Given the description of an element on the screen output the (x, y) to click on. 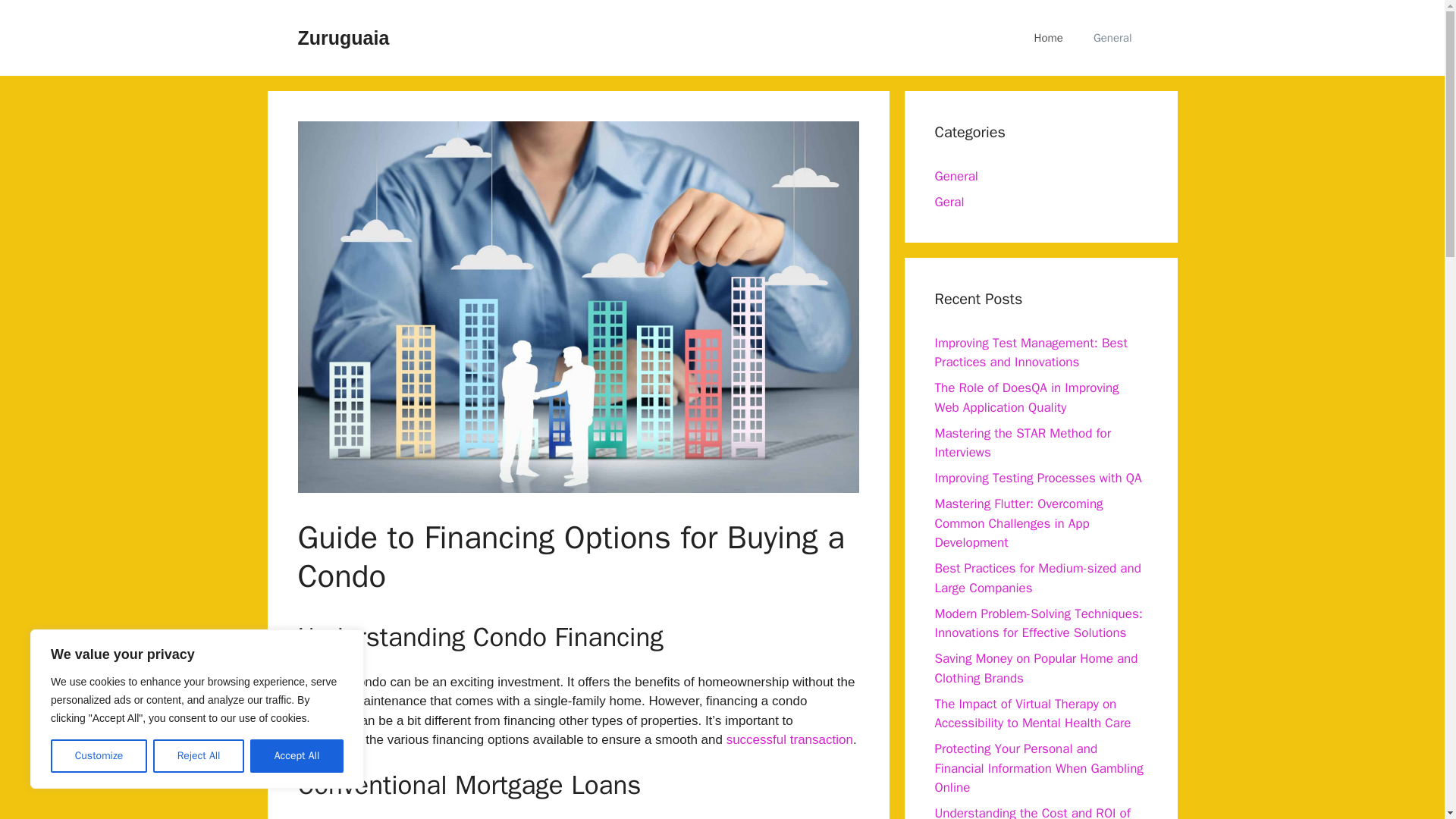
General (1112, 37)
Accept All (296, 756)
successful transaction (789, 739)
Customize (98, 756)
General (955, 176)
Zuruguaia (342, 37)
Geral (948, 201)
Improving Testing Processes with QA (1037, 478)
The Role of DoesQA in Improving Web Application Quality (1026, 397)
Reject All (198, 756)
